Given the description of an element on the screen output the (x, y) to click on. 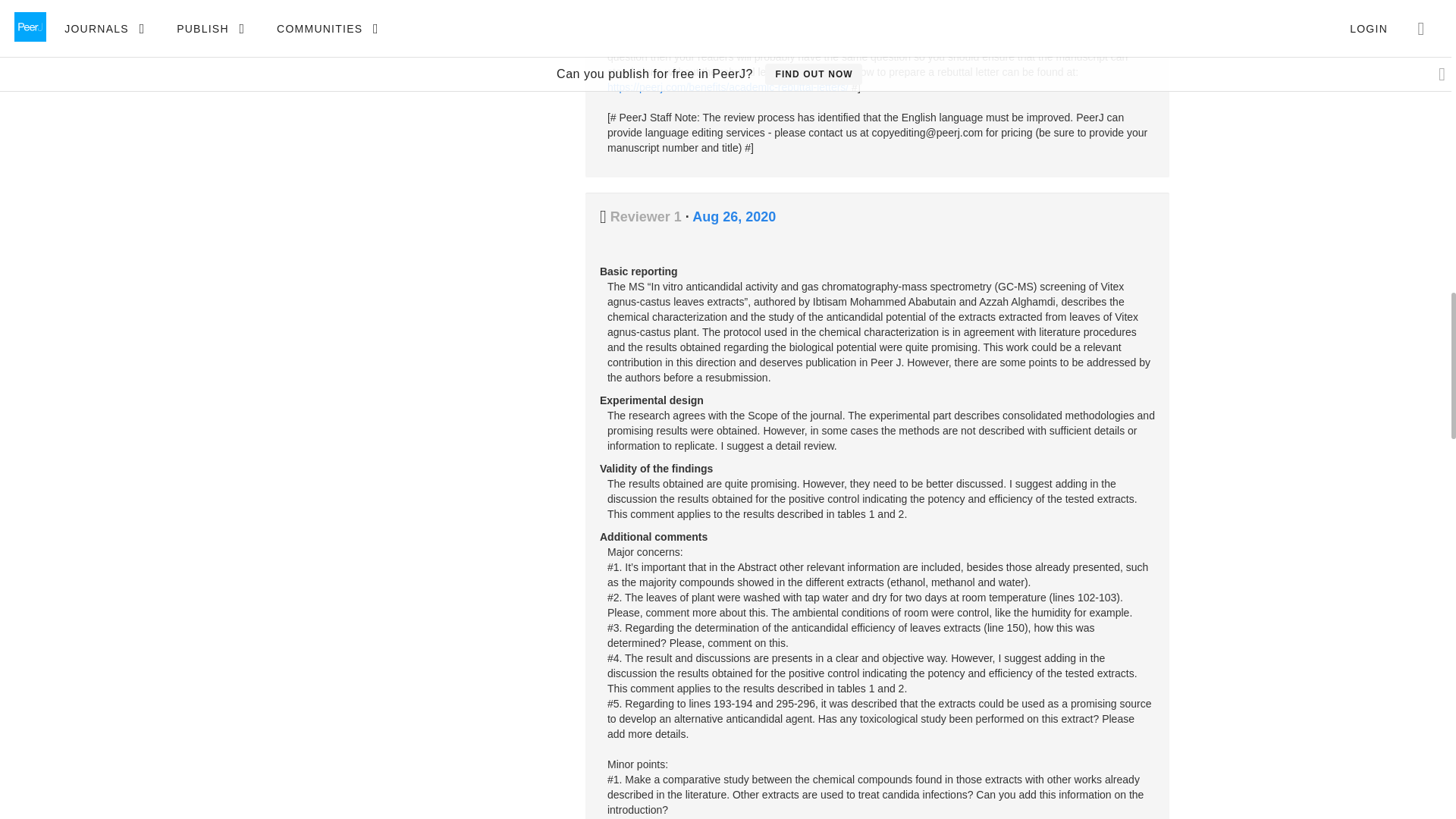
Aug 26, 2020 (734, 216)
Permalink for this review (734, 216)
